Given the description of an element on the screen output the (x, y) to click on. 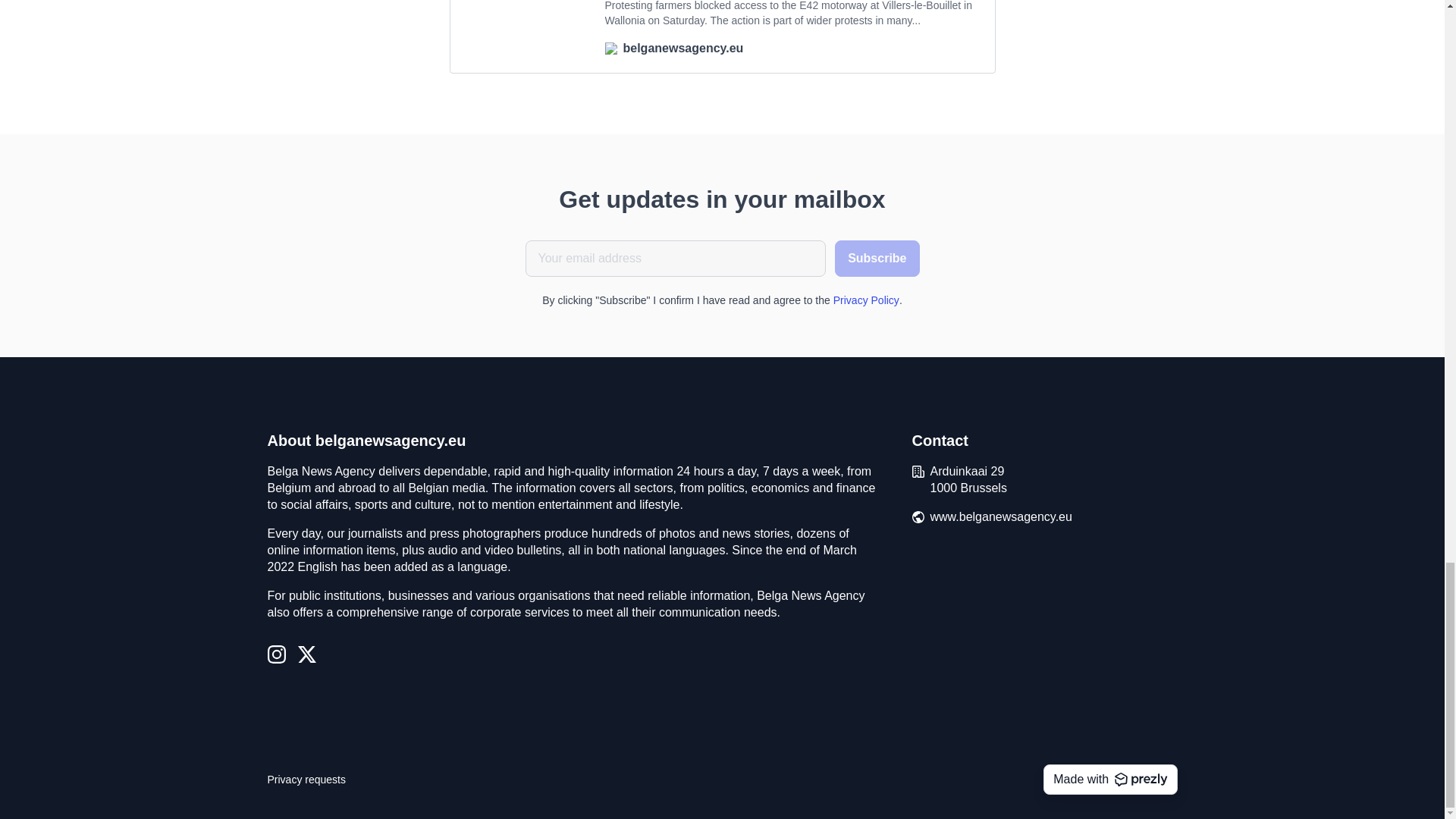
www.belganewsagency.eu (1000, 516)
Privacy requests (305, 779)
belganewsagency.eu (790, 48)
Subscribe (876, 258)
Made with (1109, 779)
Privacy Policy (865, 300)
